Given the description of an element on the screen output the (x, y) to click on. 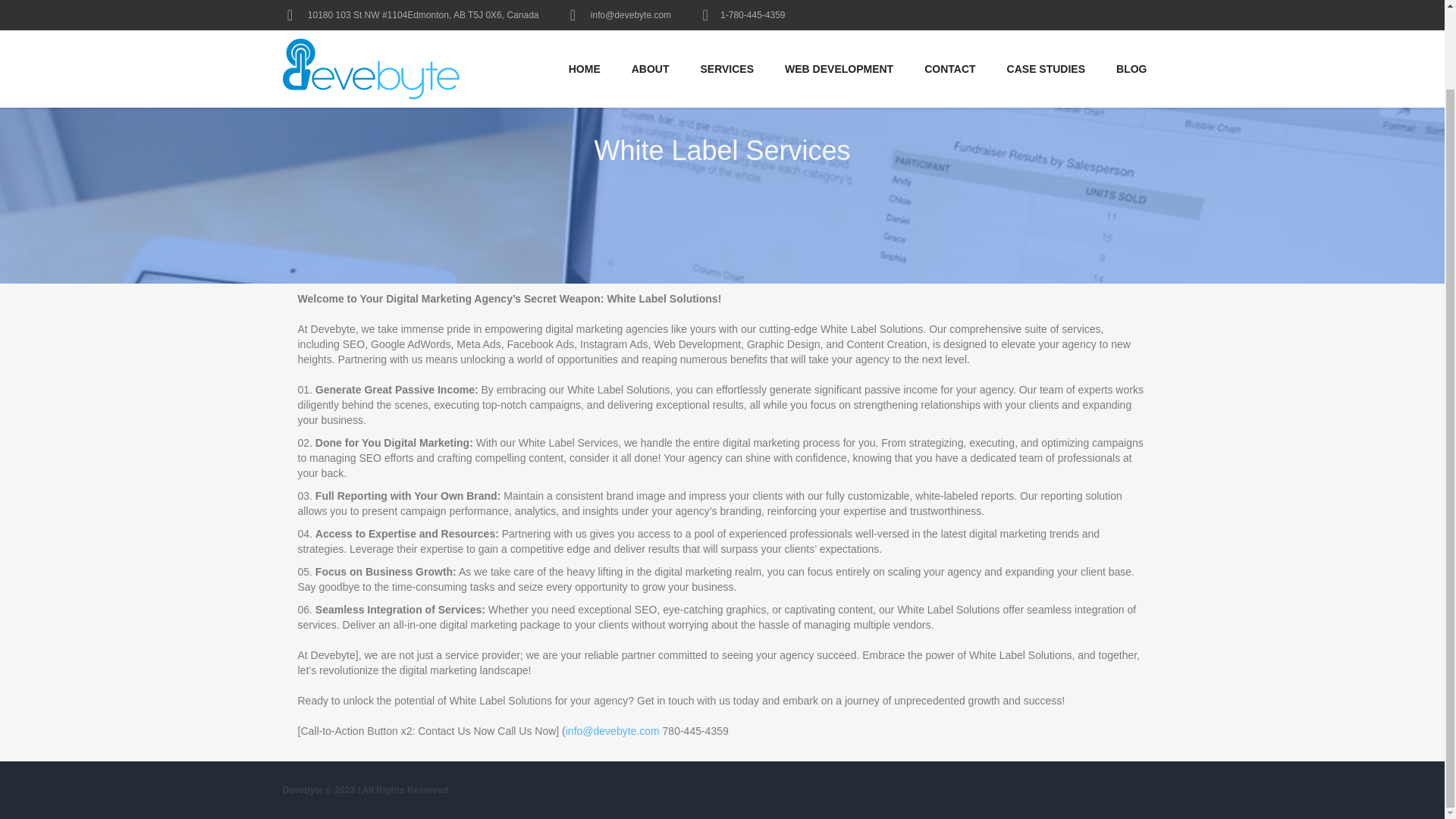
WEB DEVELOPMENT (839, 9)
BLOG (1130, 9)
CONTACT (949, 9)
ABOUT (649, 9)
SERVICES (727, 9)
CASE STUDIES (1045, 9)
HOME (584, 9)
